Given the description of an element on the screen output the (x, y) to click on. 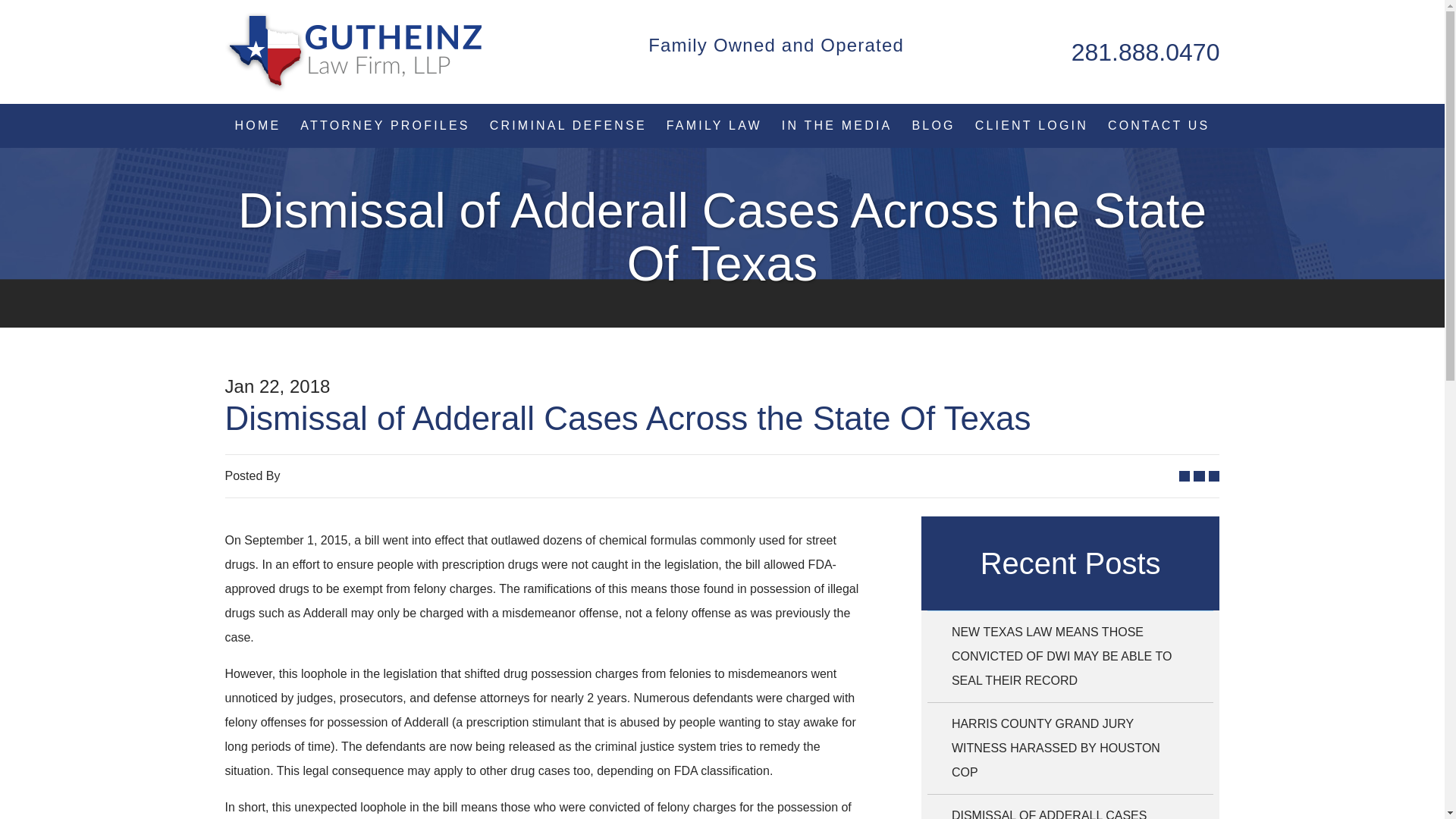
HOME (258, 126)
ATTORNEY PROFILES (384, 126)
Gutheinz Law Firm, LLP (353, 51)
BLOG (932, 126)
CONTACT US (1158, 126)
IN THE MEDIA (836, 126)
CRIMINAL DEFENSE (568, 126)
CLIENT LOGIN (1031, 126)
281.888.0470 (1145, 51)
FAMILY LAW (713, 126)
